Given the description of an element on the screen output the (x, y) to click on. 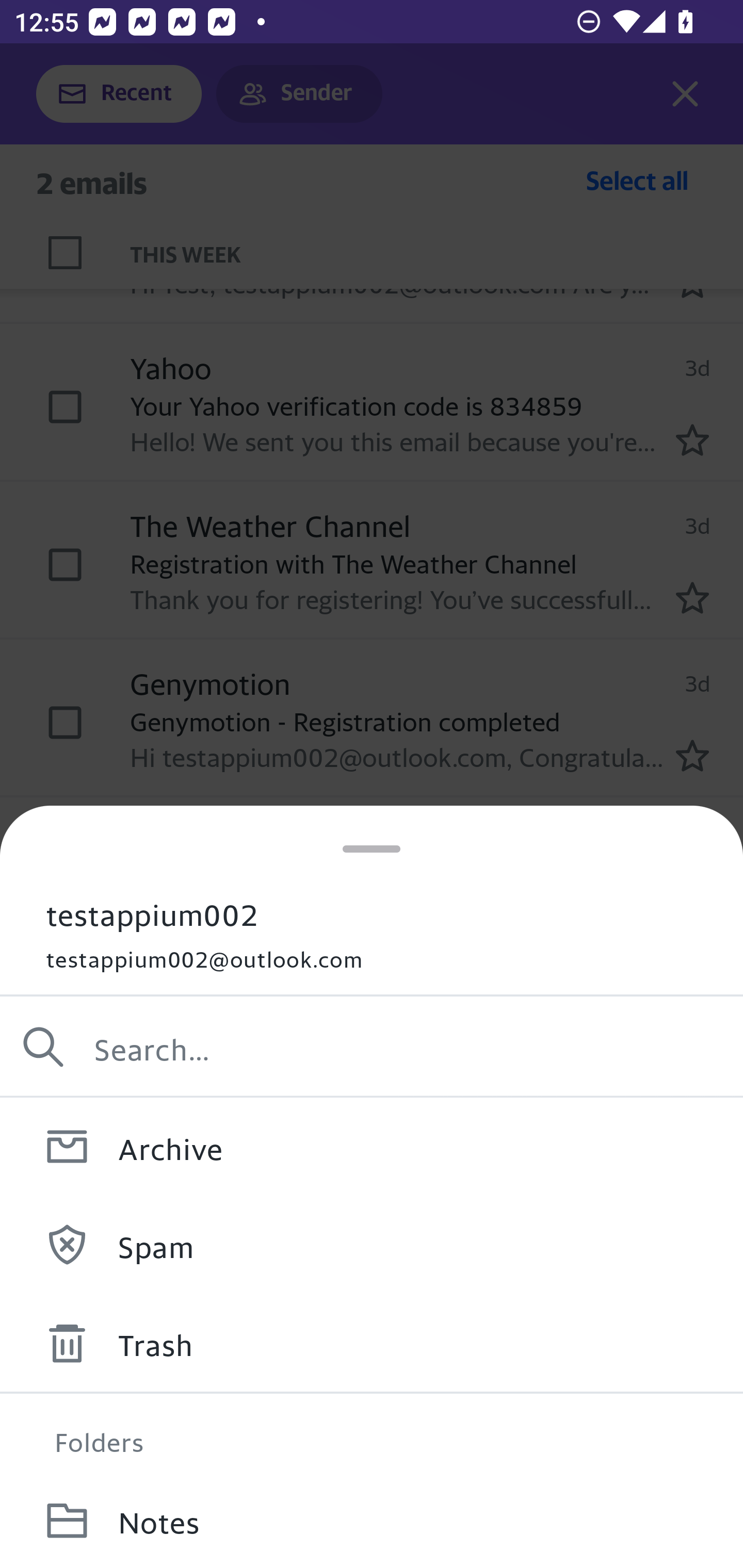
Search… (371, 1047)
Archive (371, 1145)
Spam (371, 1243)
Trash (371, 1342)
Notes (371, 1520)
